Given the description of an element on the screen output the (x, y) to click on. 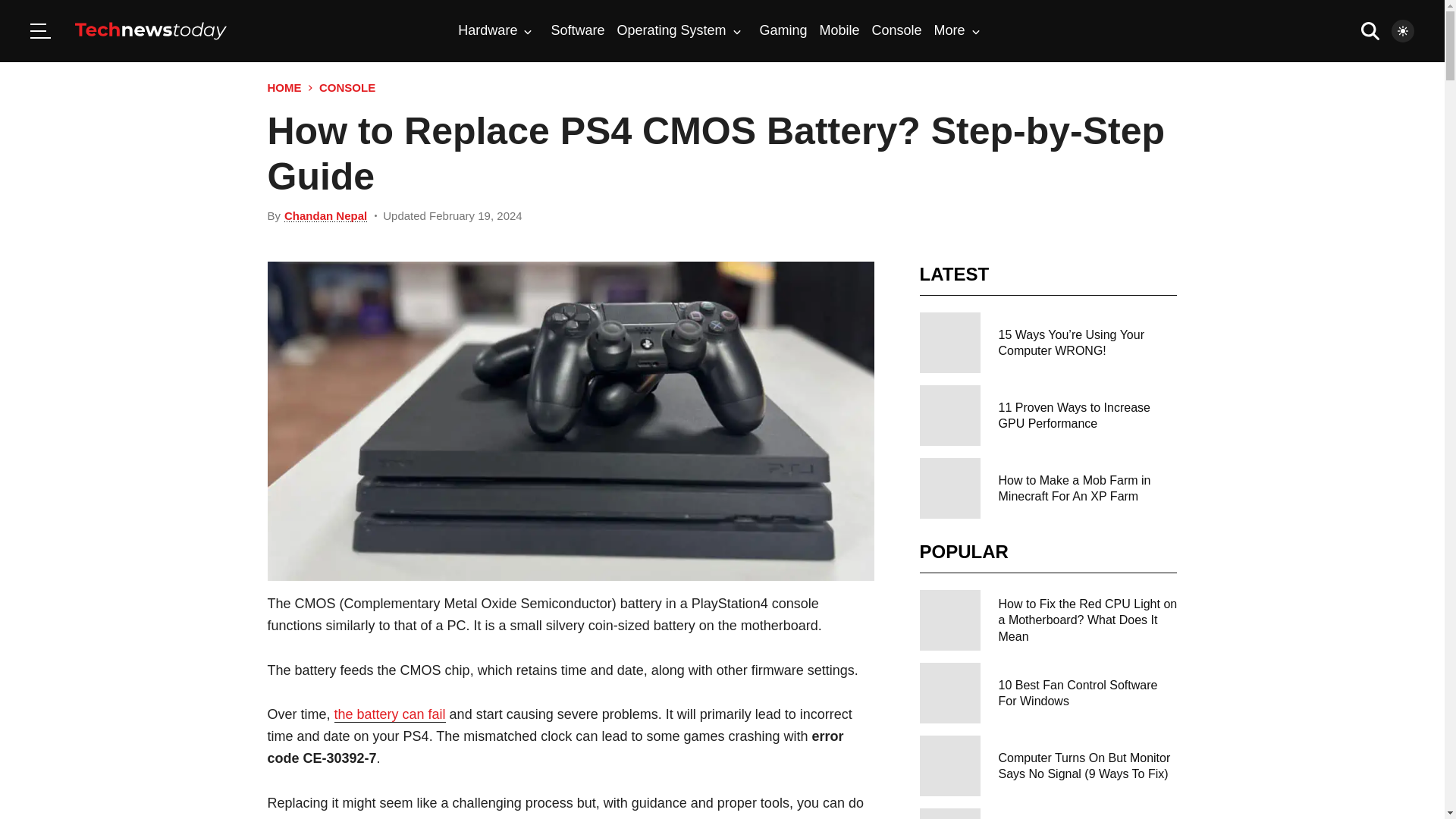
Gaming (784, 30)
Software (577, 30)
Operating System (678, 30)
More (956, 30)
Console (896, 30)
Mobile (839, 30)
Hardware (495, 30)
